Given the description of an element on the screen output the (x, y) to click on. 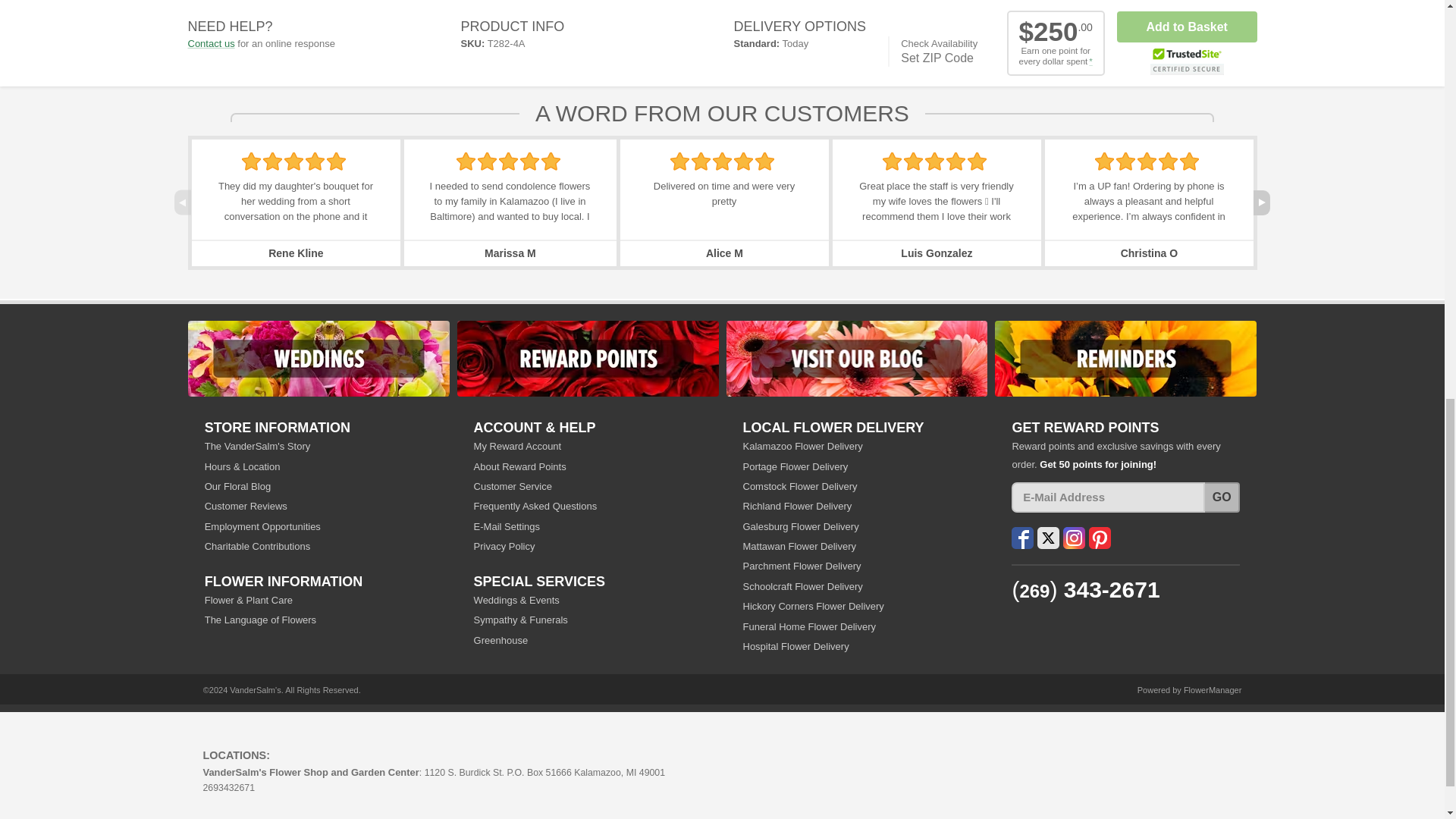
Full Star (336, 161)
Full Star (292, 161)
Full Star (678, 161)
Full Star (528, 161)
Full Star (466, 161)
Full Star (550, 161)
Full Star (486, 161)
Full Star (272, 161)
Full Star (250, 161)
Full Star (508, 161)
Full Star (314, 161)
